Given the description of an element on the screen output the (x, y) to click on. 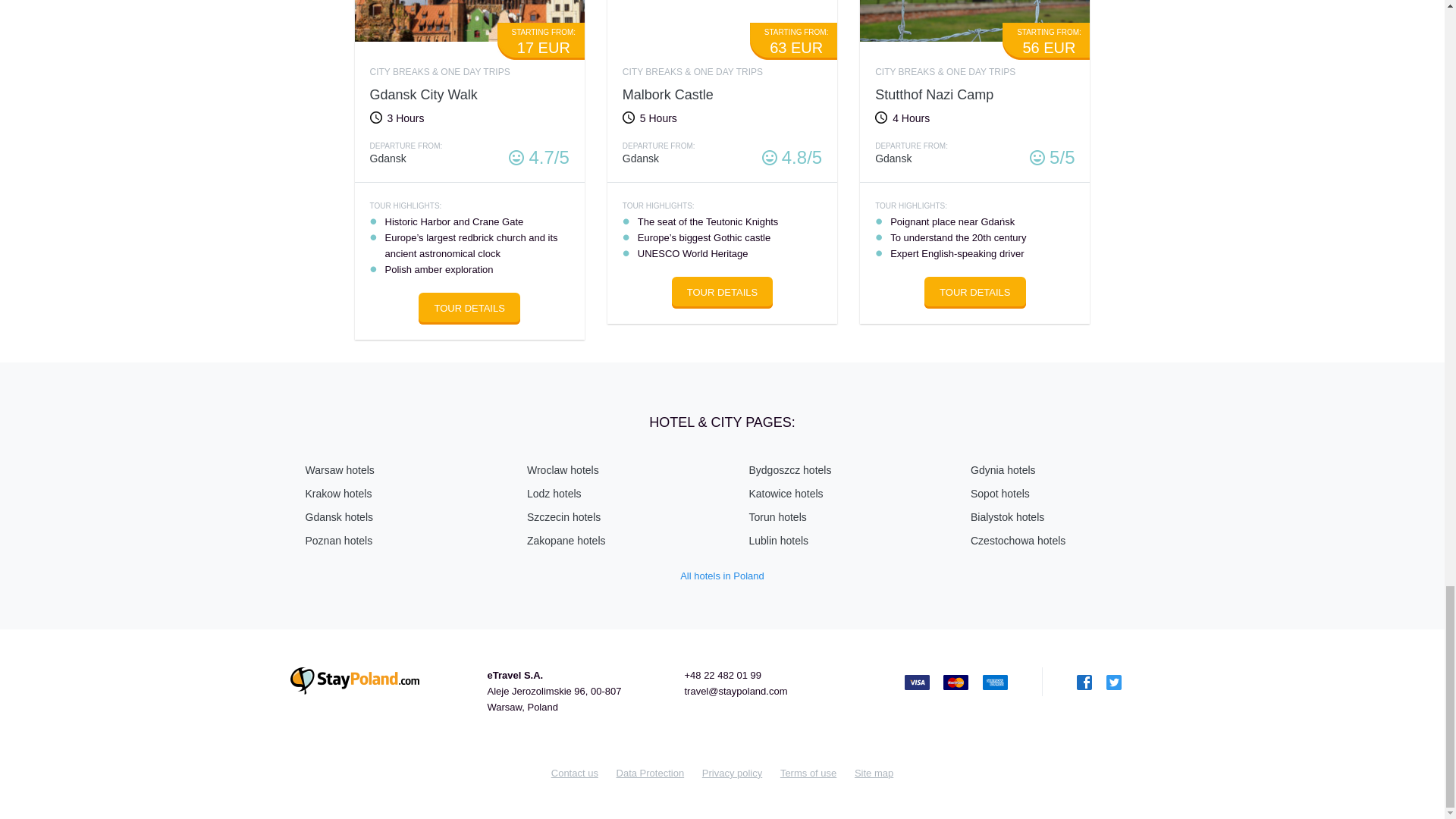
Gdansk (641, 158)
Stutthof Nazi Camp (933, 94)
TOUR DETAILS (469, 308)
TOUR DETAILS (974, 292)
Gdansk (387, 158)
Gdansk (893, 158)
Malbork Castle (668, 94)
Gdansk City Walk (423, 94)
TOUR DETAILS (722, 292)
